Given the description of an element on the screen output the (x, y) to click on. 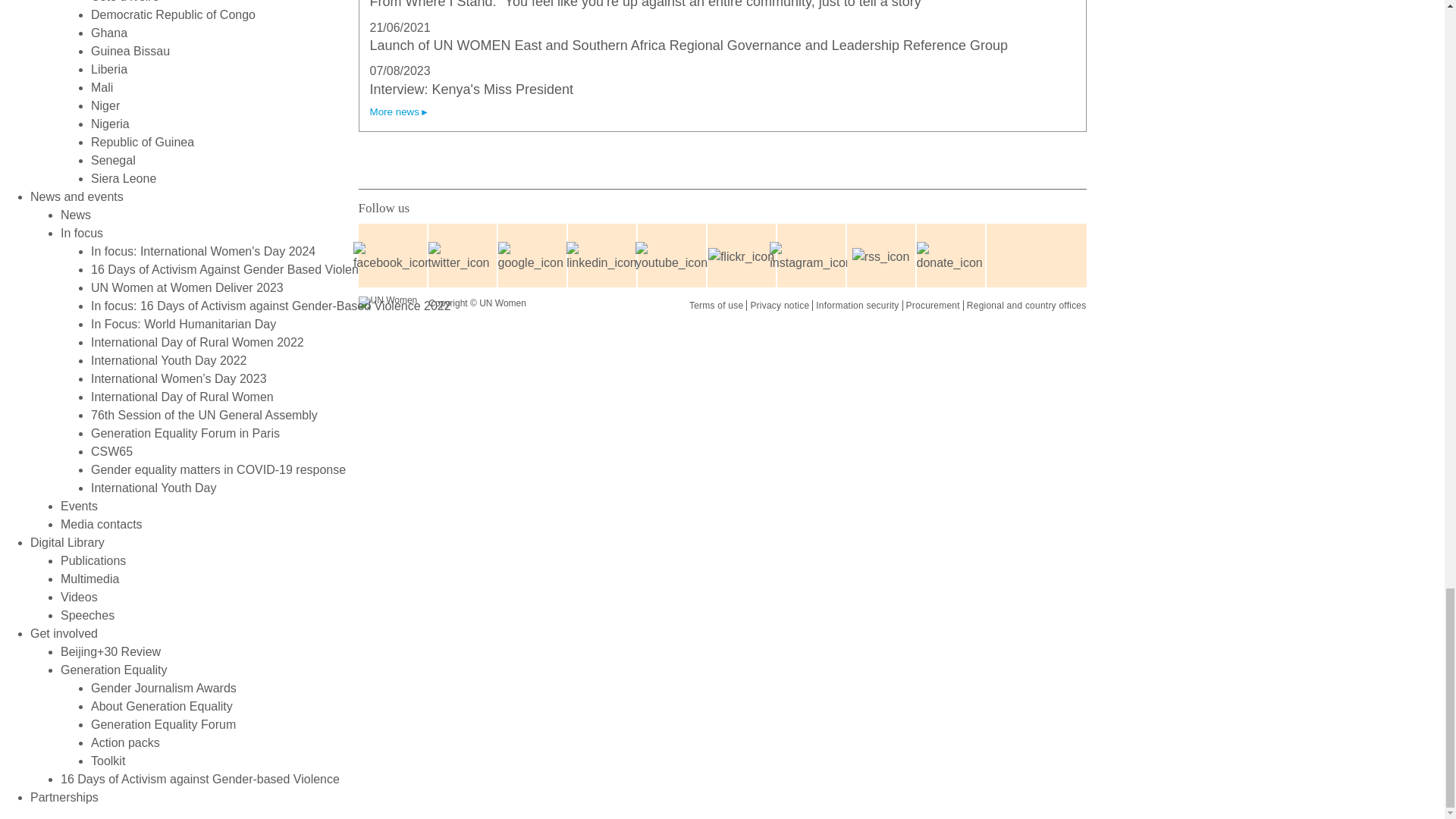
Information security (856, 305)
UN Women (387, 302)
News feed (879, 256)
